Given the description of an element on the screen output the (x, y) to click on. 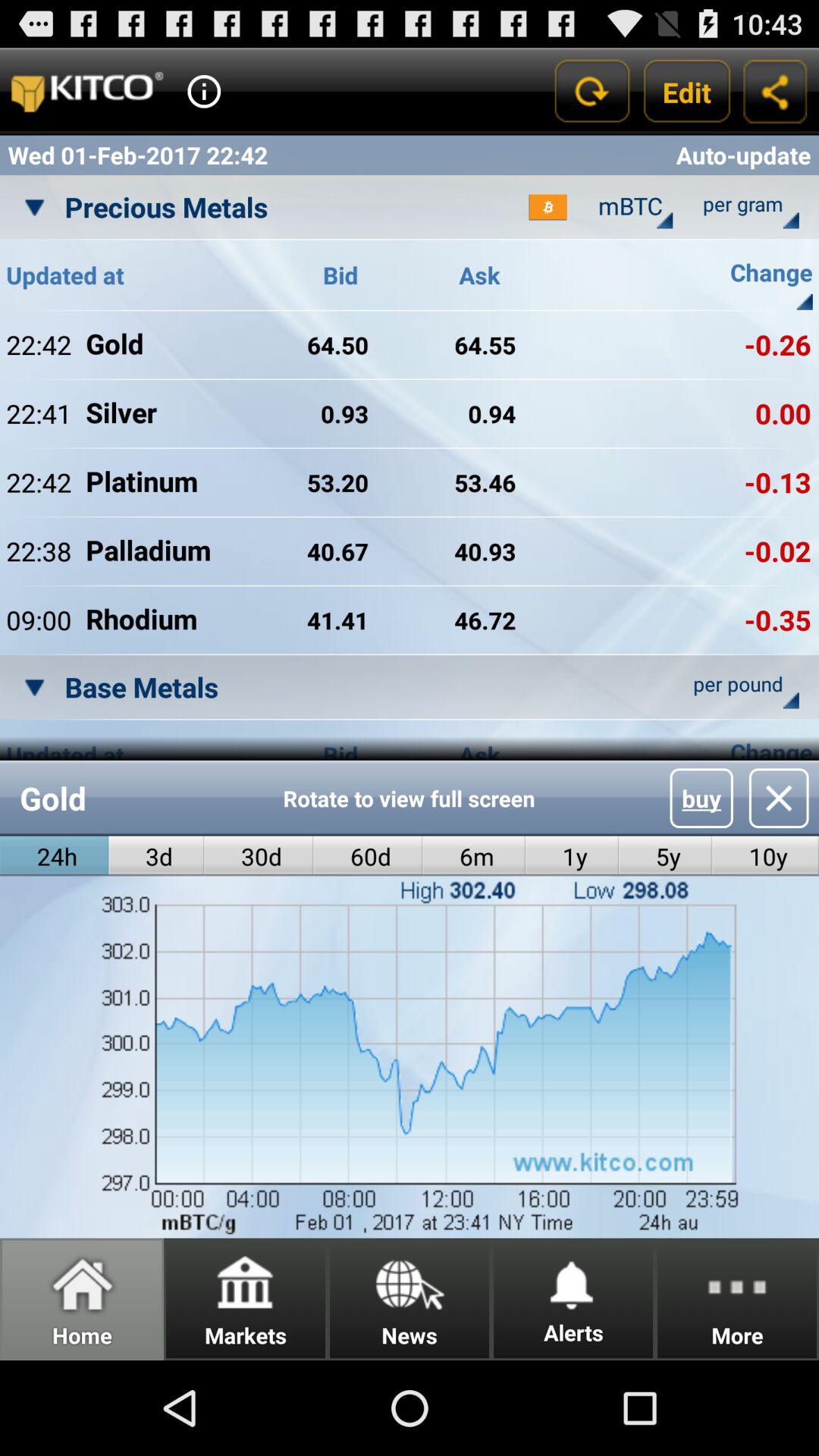
share this page (775, 91)
